Given the description of an element on the screen output the (x, y) to click on. 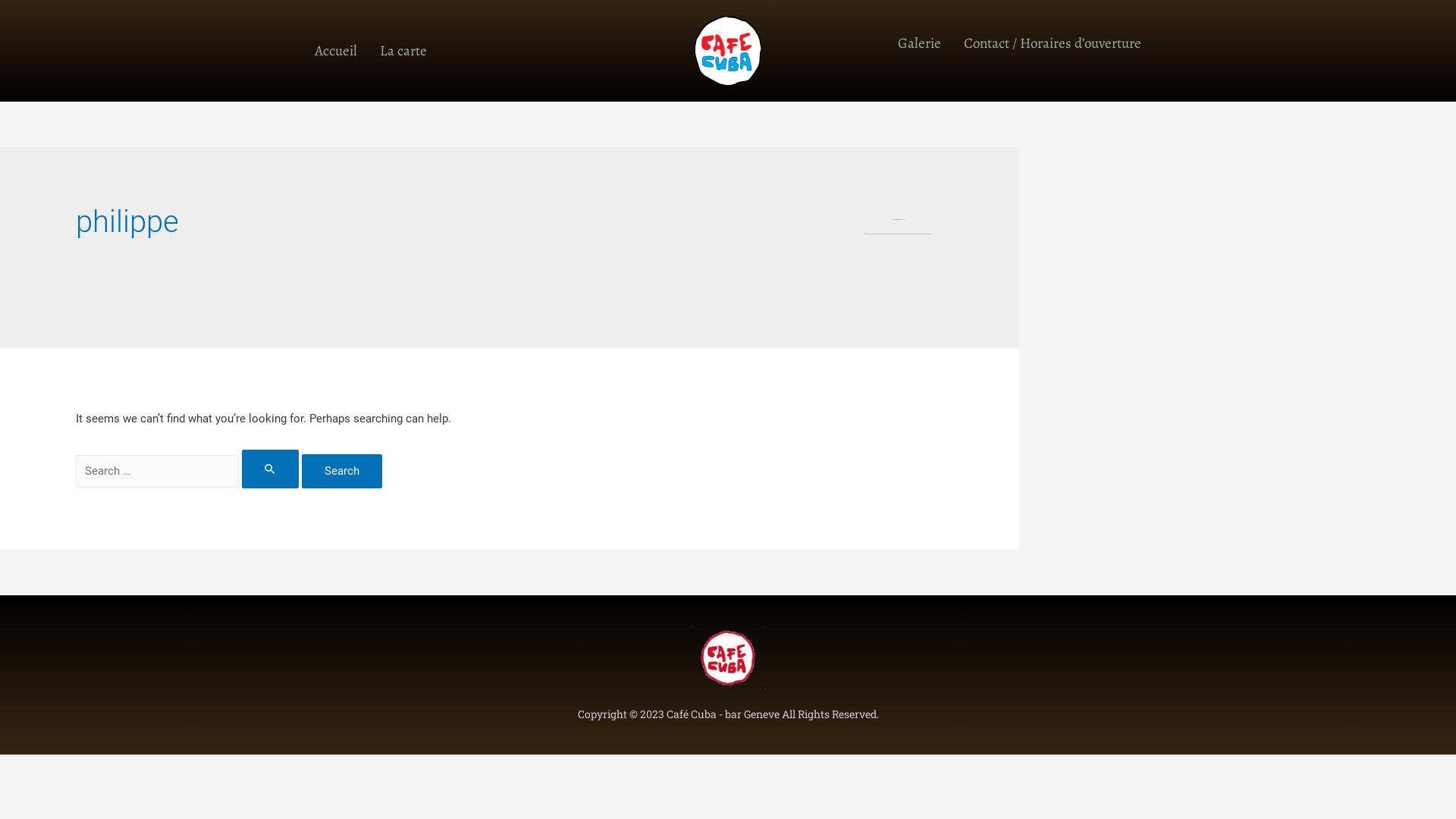
La carte Element type: text (403, 50)
Galerie Element type: text (919, 43)
Accueil Element type: text (335, 50)
Search Element type: text (341, 471)
